Given the description of an element on the screen output the (x, y) to click on. 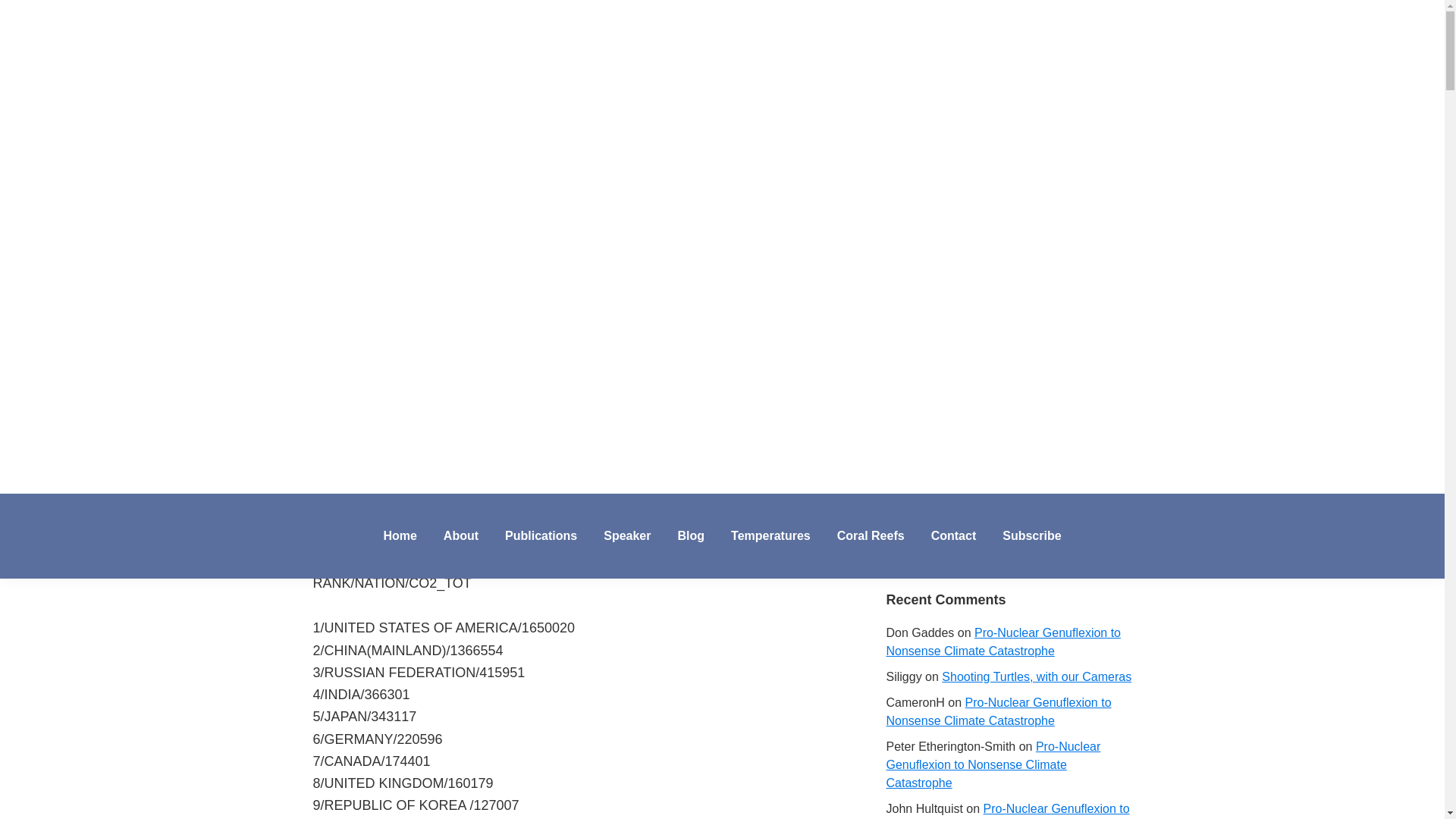
About (460, 535)
Home (399, 535)
Contact (954, 535)
jennifer (437, 82)
Temperatures (770, 535)
Publications (540, 535)
Subscribe (1031, 535)
